Given the description of an element on the screen output the (x, y) to click on. 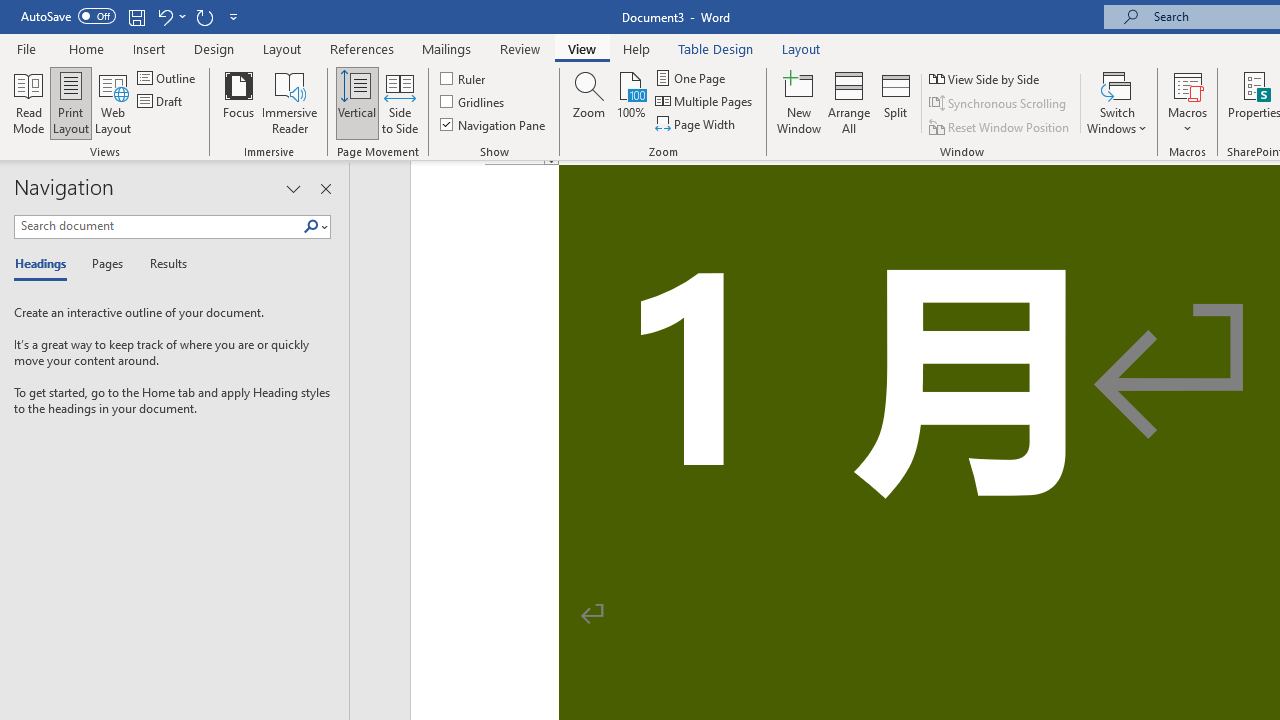
New Window (799, 102)
Web Layout (113, 102)
Layout (801, 48)
Side to Side (399, 102)
Navigation Pane (493, 124)
Reset Window Position (1000, 126)
Save (136, 15)
Page Width (696, 124)
Headings (45, 264)
Class: NetUIImage (311, 226)
Search document (157, 226)
Undo Increase Indent (170, 15)
Mailings (447, 48)
Task Pane Options (293, 188)
